Given the description of an element on the screen output the (x, y) to click on. 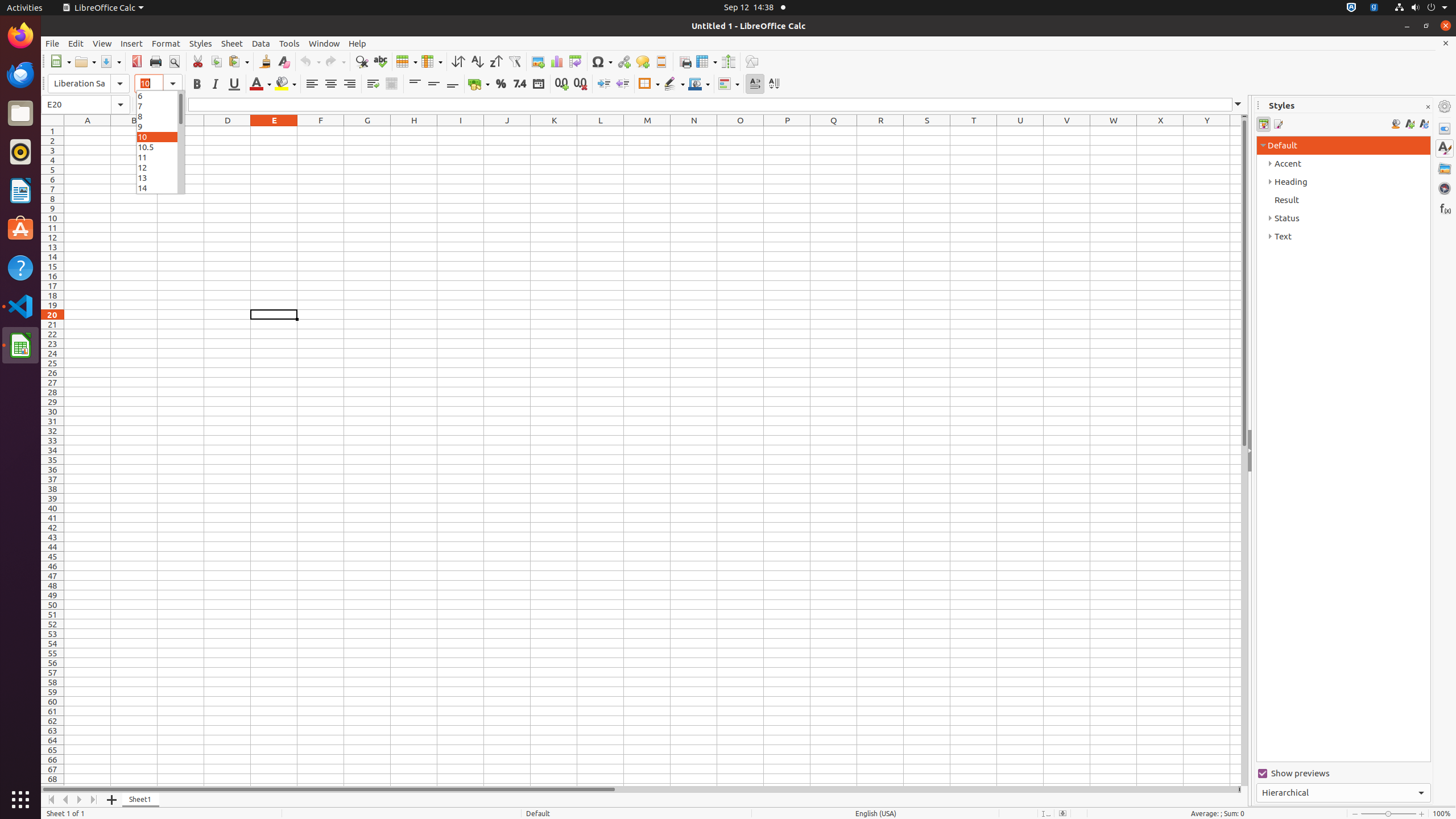
Currency Element type: push-button (478, 83)
Close Sidebar Deck Element type: push-button (1427, 106)
Freeze Rows and Columns Element type: push-button (705, 61)
Cell Styles Element type: push-button (1263, 123)
